Given the description of an element on the screen output the (x, y) to click on. 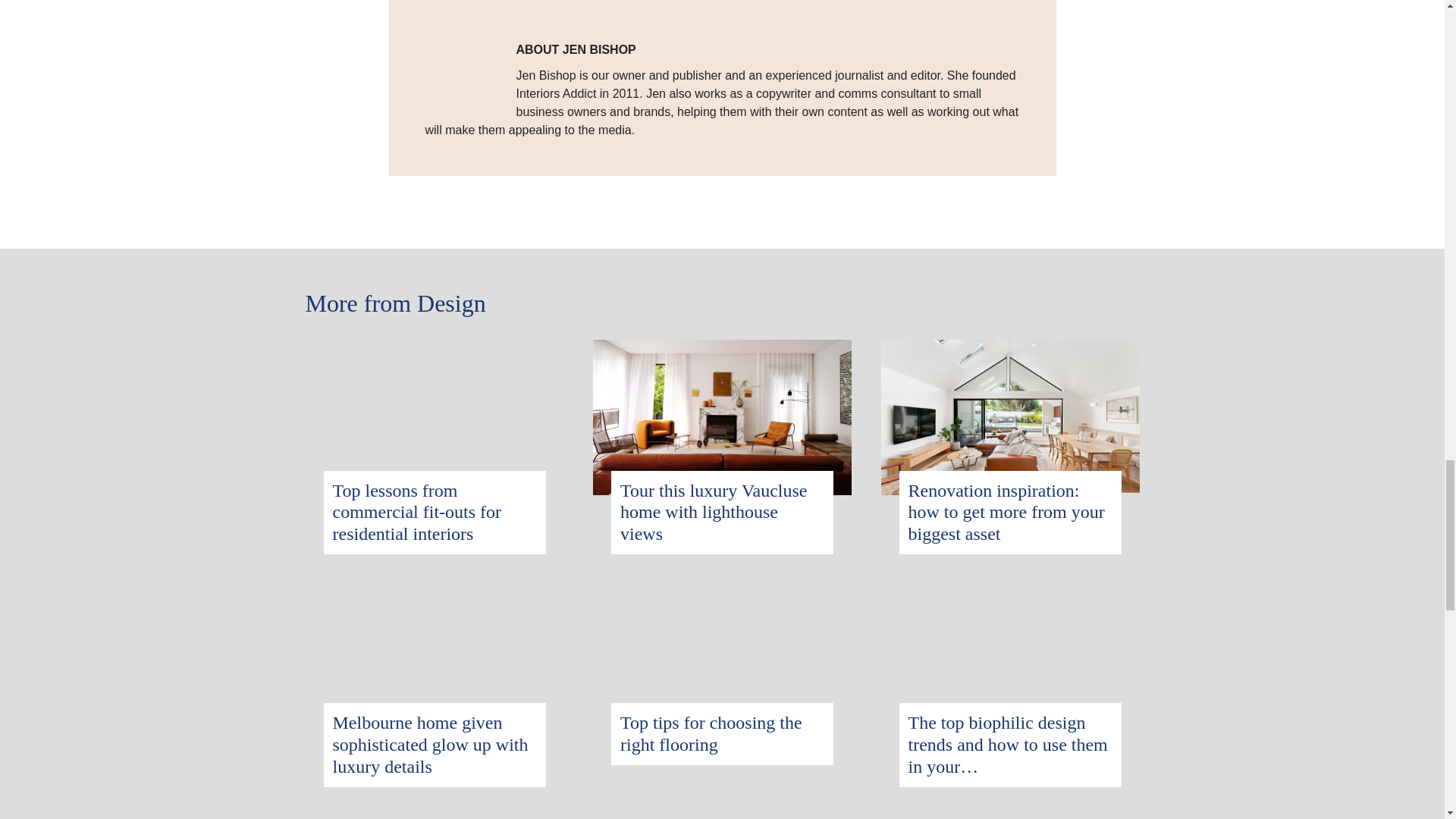
Tour this luxury Vaucluse home with lighthouse views (714, 512)
Tour this luxury Vaucluse home with lighthouse views (721, 348)
